Given the description of an element on the screen output the (x, y) to click on. 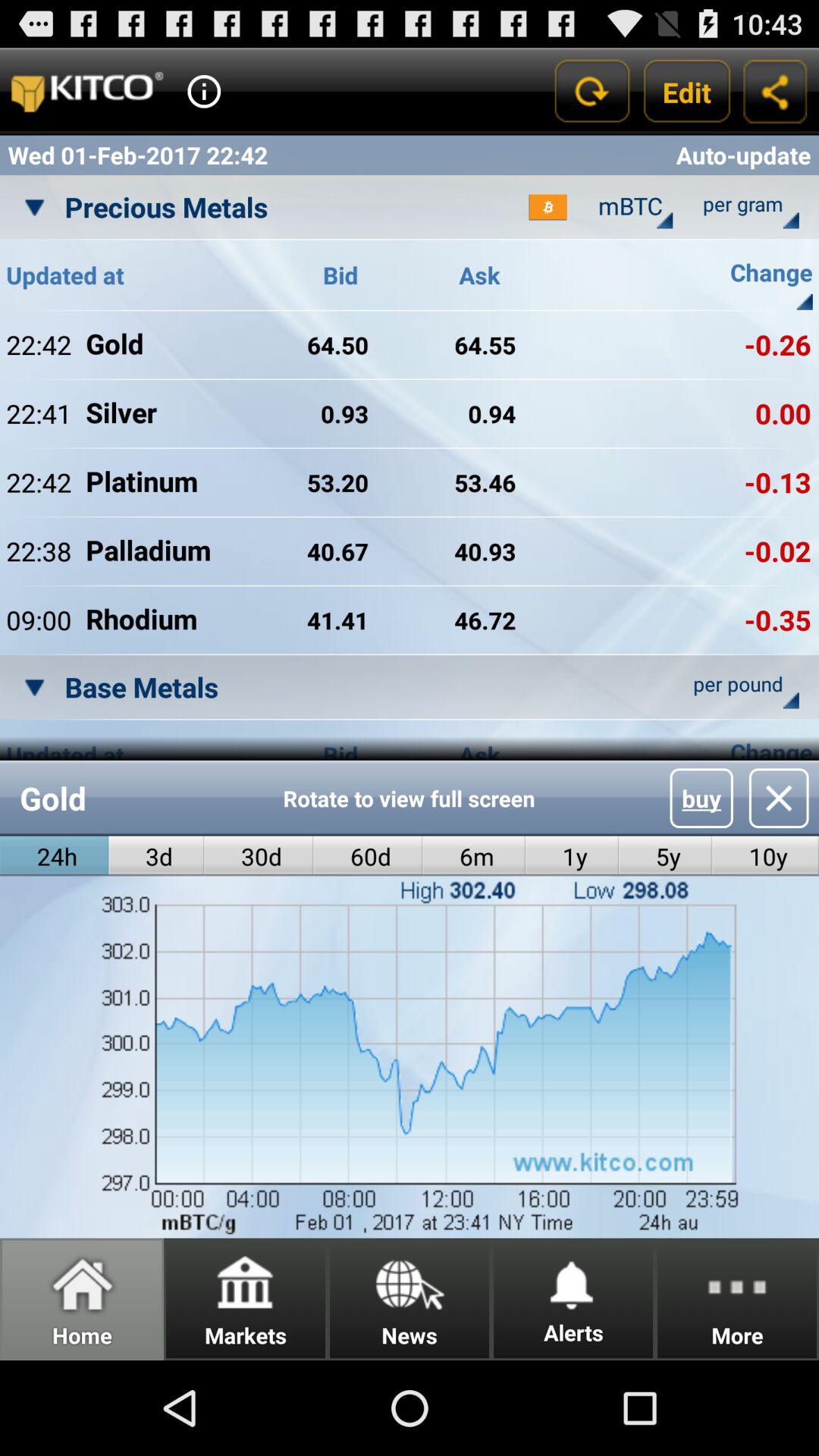
select app below the rotate to view (473, 856)
